Given the description of an element on the screen output the (x, y) to click on. 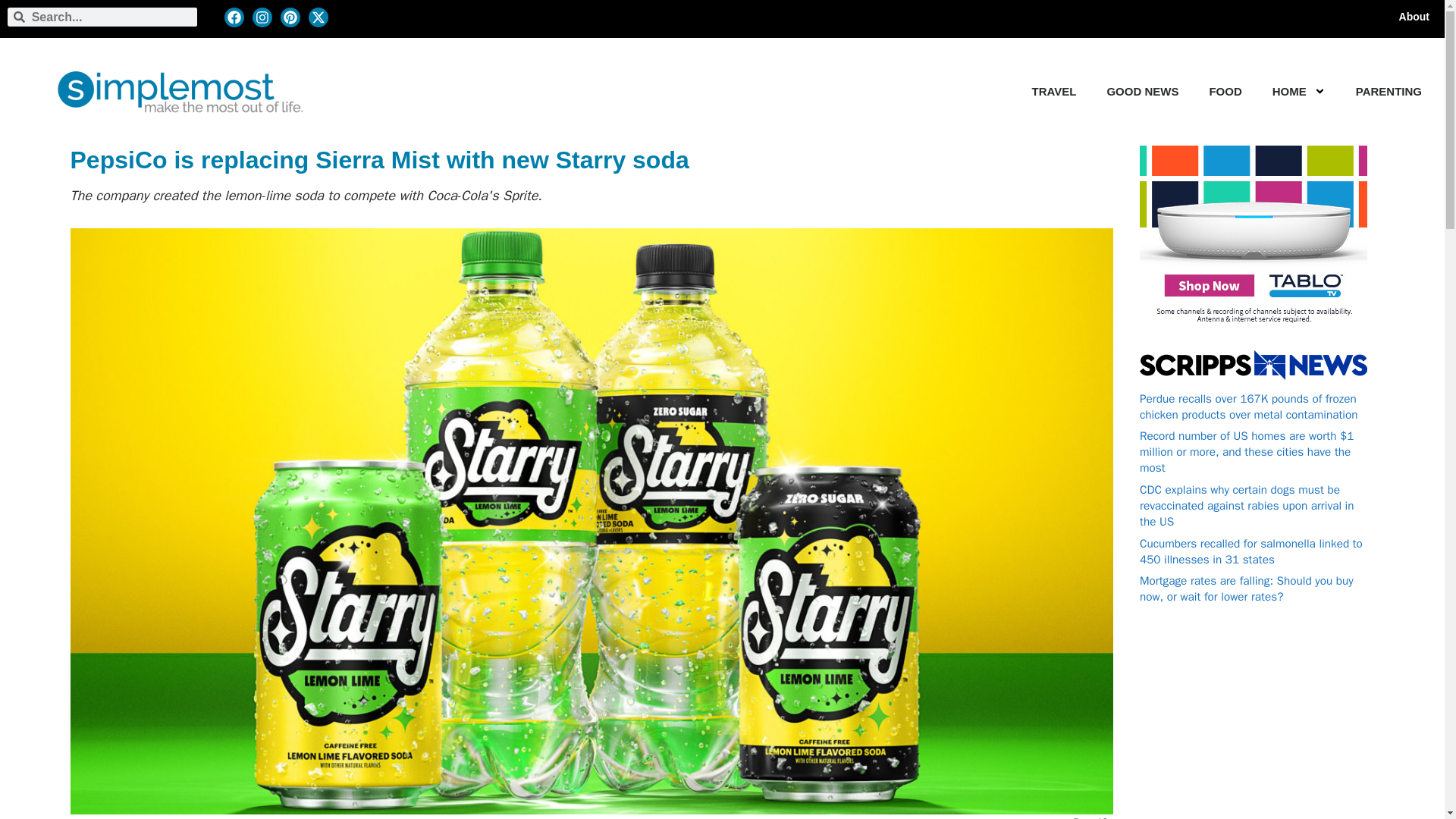
PARENTING (1388, 91)
HOME (1289, 91)
About (1414, 16)
GOOD NEWS (1141, 91)
FOOD (1224, 91)
TRAVEL (1054, 91)
